Given the description of an element on the screen output the (x, y) to click on. 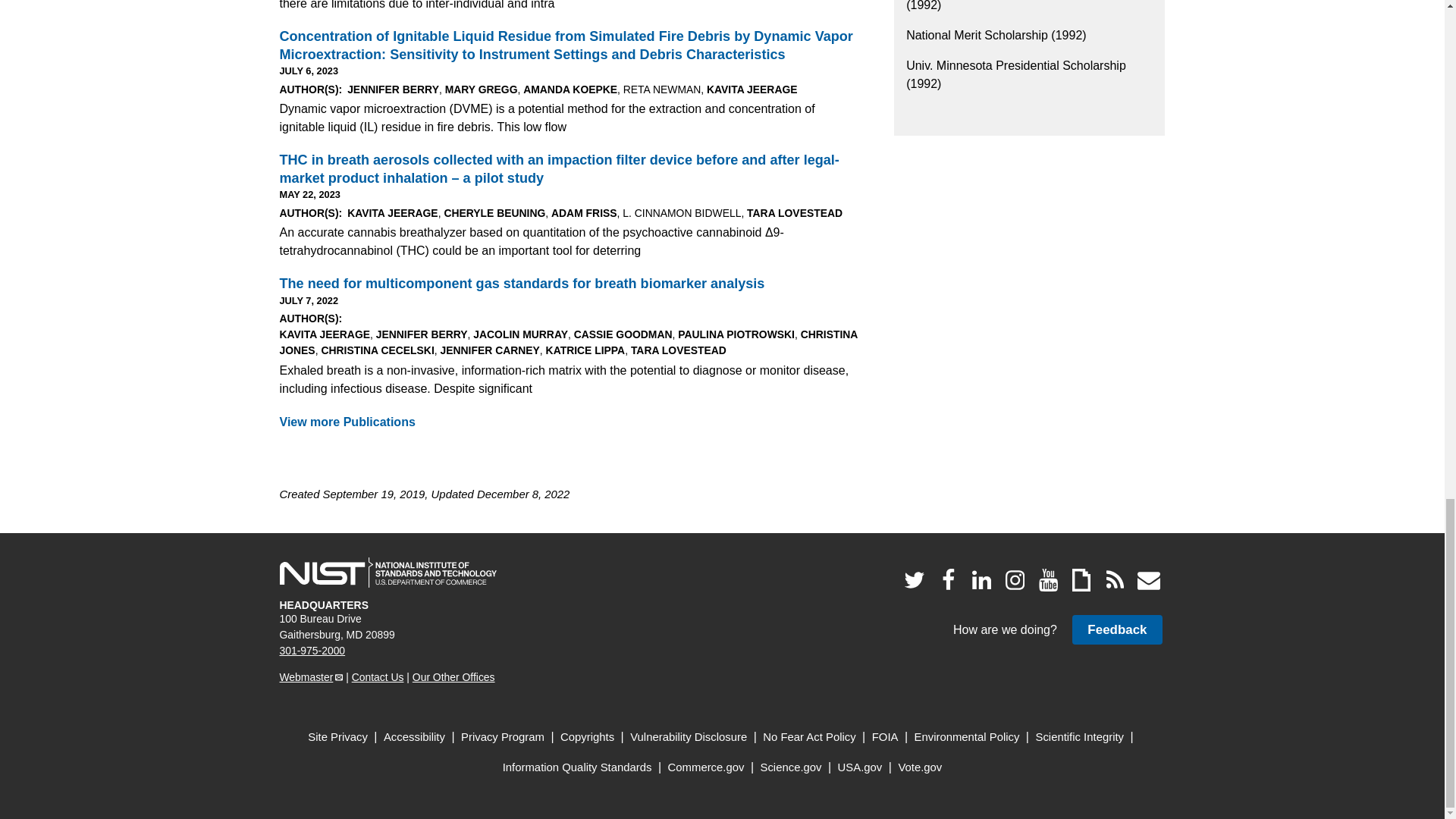
301-975-2000 (312, 650)
View more Publications (346, 421)
Provide feedback (1116, 629)
Contact Us (378, 676)
National Institute of Standards and Technology (387, 572)
Webmaster (310, 676)
Our Other Offices (453, 676)
